Given the description of an element on the screen output the (x, y) to click on. 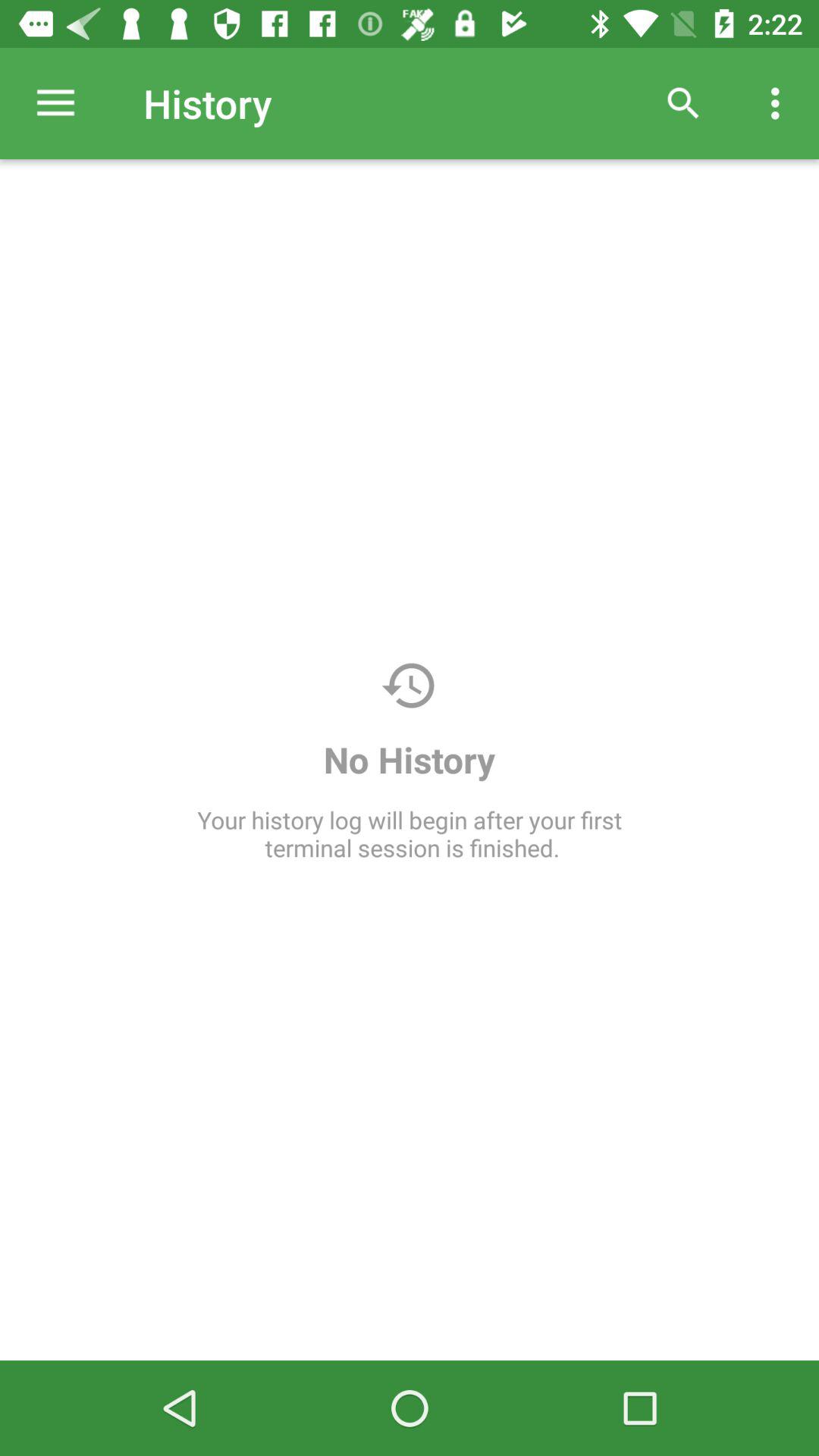
tap the icon to the left of history icon (55, 103)
